Given the description of an element on the screen output the (x, y) to click on. 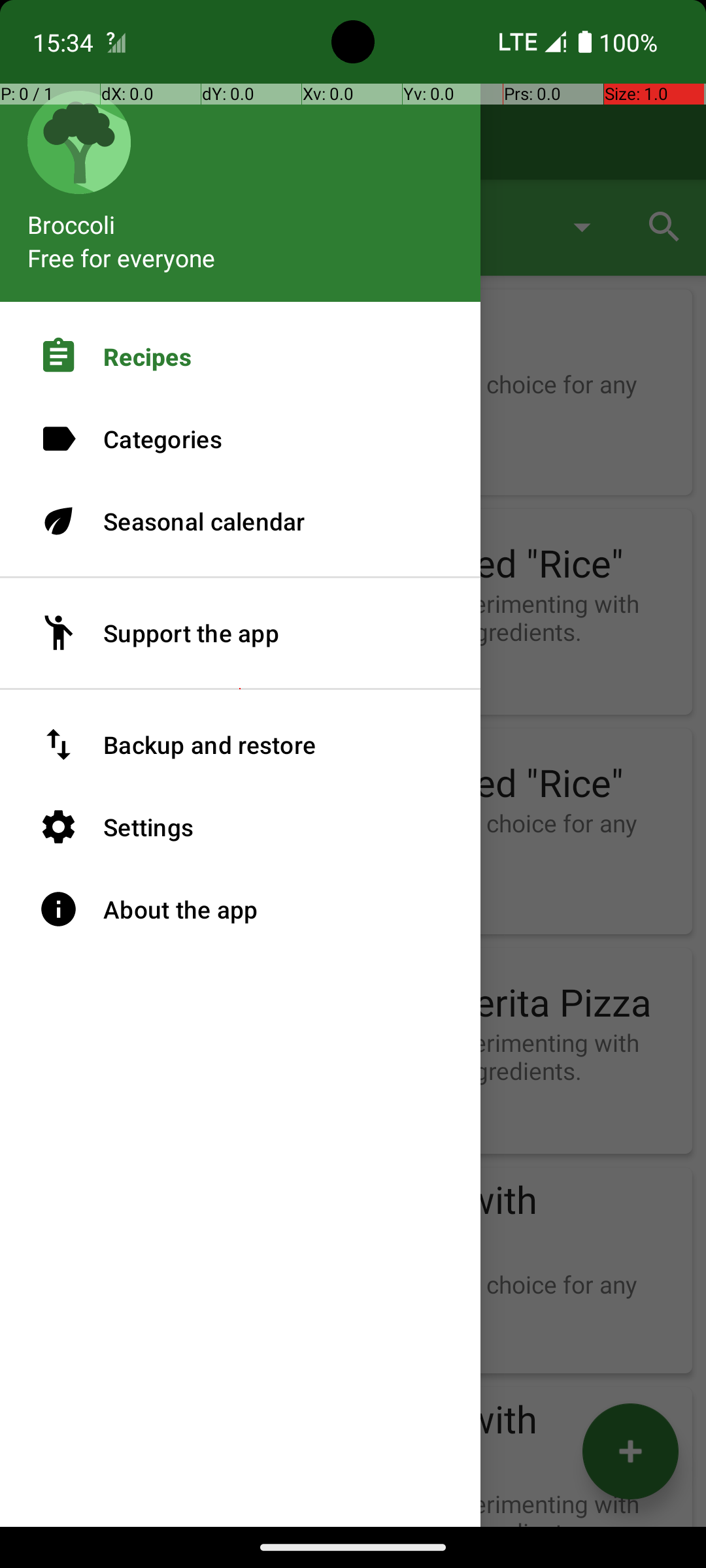
Free for everyone Element type: android.widget.TextView (121, 257)
Support the app Element type: android.widget.CheckedTextView (239, 632)
Backup and restore Element type: android.widget.CheckedTextView (239, 744)
